Given the description of an element on the screen output the (x, y) to click on. 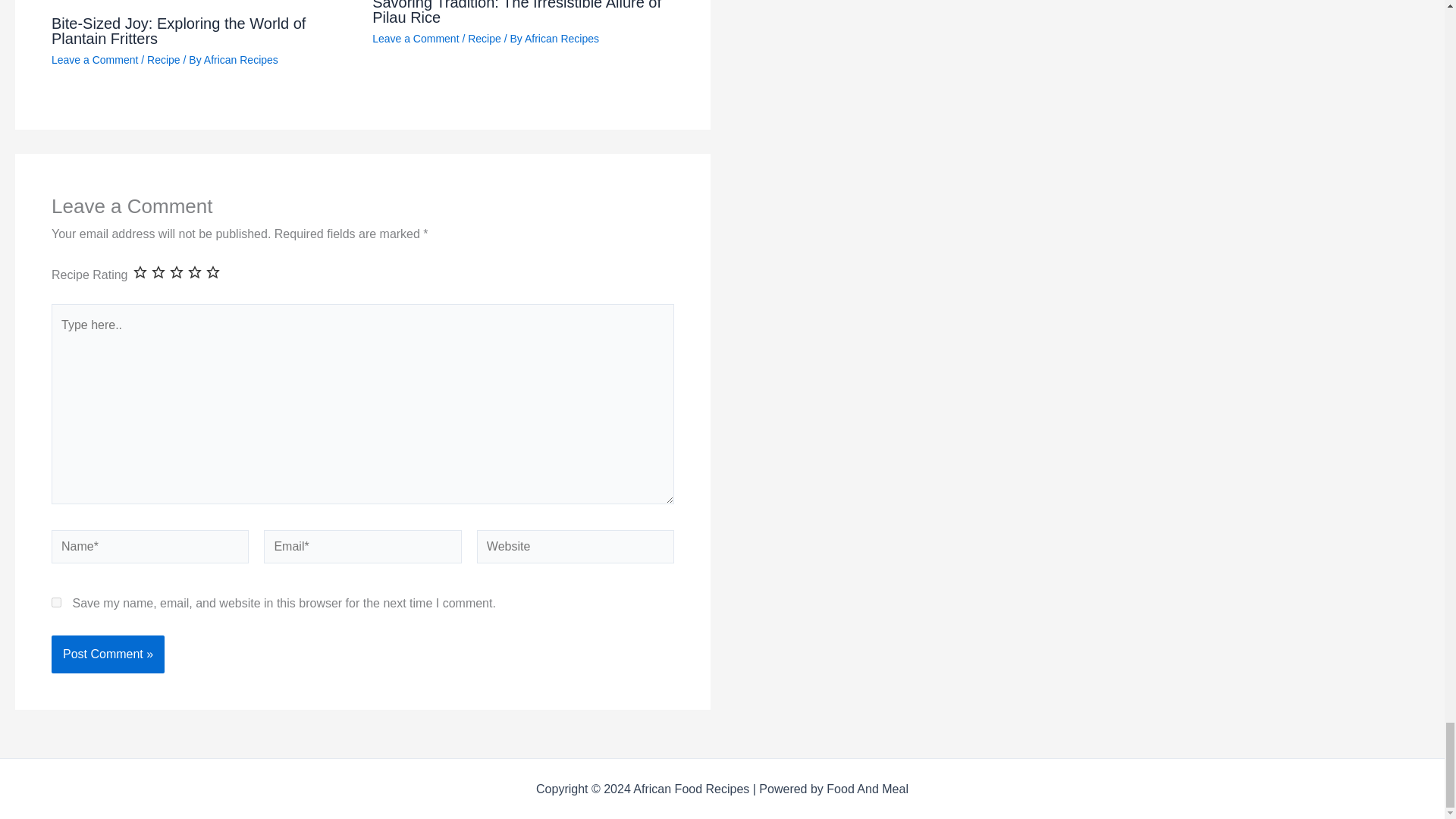
View all posts by African Recipes (561, 38)
yes (55, 602)
View all posts by African Recipes (240, 60)
